Given the description of an element on the screen output the (x, y) to click on. 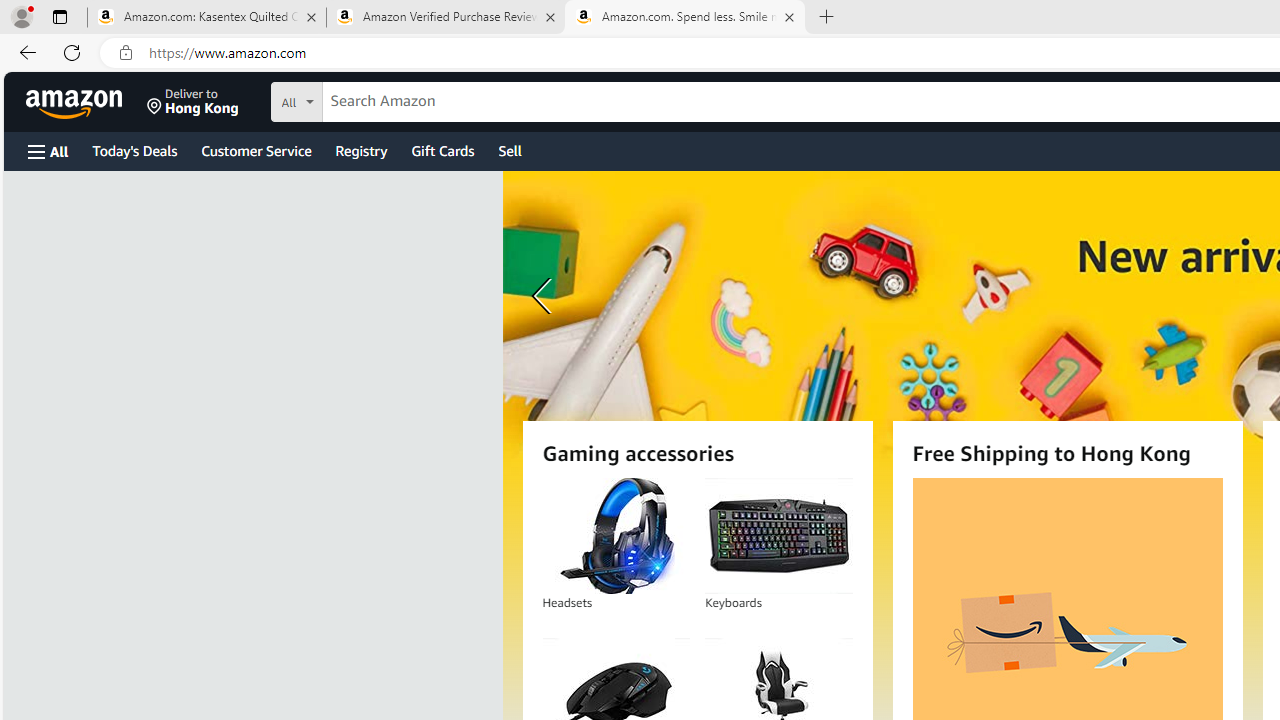
Registry (360, 150)
Headsets (616, 536)
Headsets (615, 536)
Search in (371, 99)
Today's Deals (134, 150)
Previous slide (544, 296)
Keyboards (778, 536)
